Given the description of an element on the screen output the (x, y) to click on. 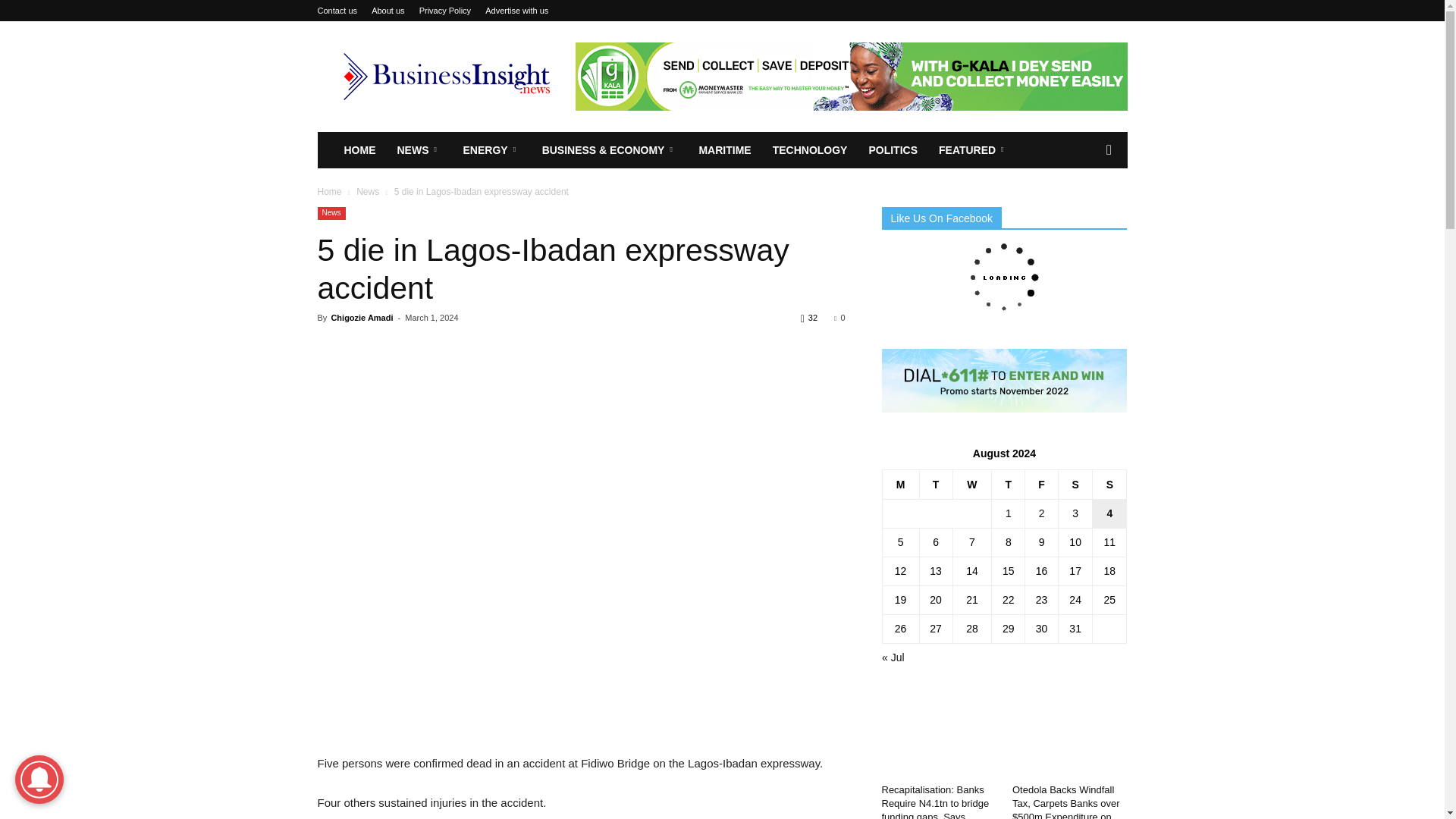
Advertise with us (516, 10)
HOME (360, 149)
View all posts in News (367, 191)
Contact us (336, 10)
About us (387, 10)
Privacy Policy (444, 10)
